Given the description of an element on the screen output the (x, y) to click on. 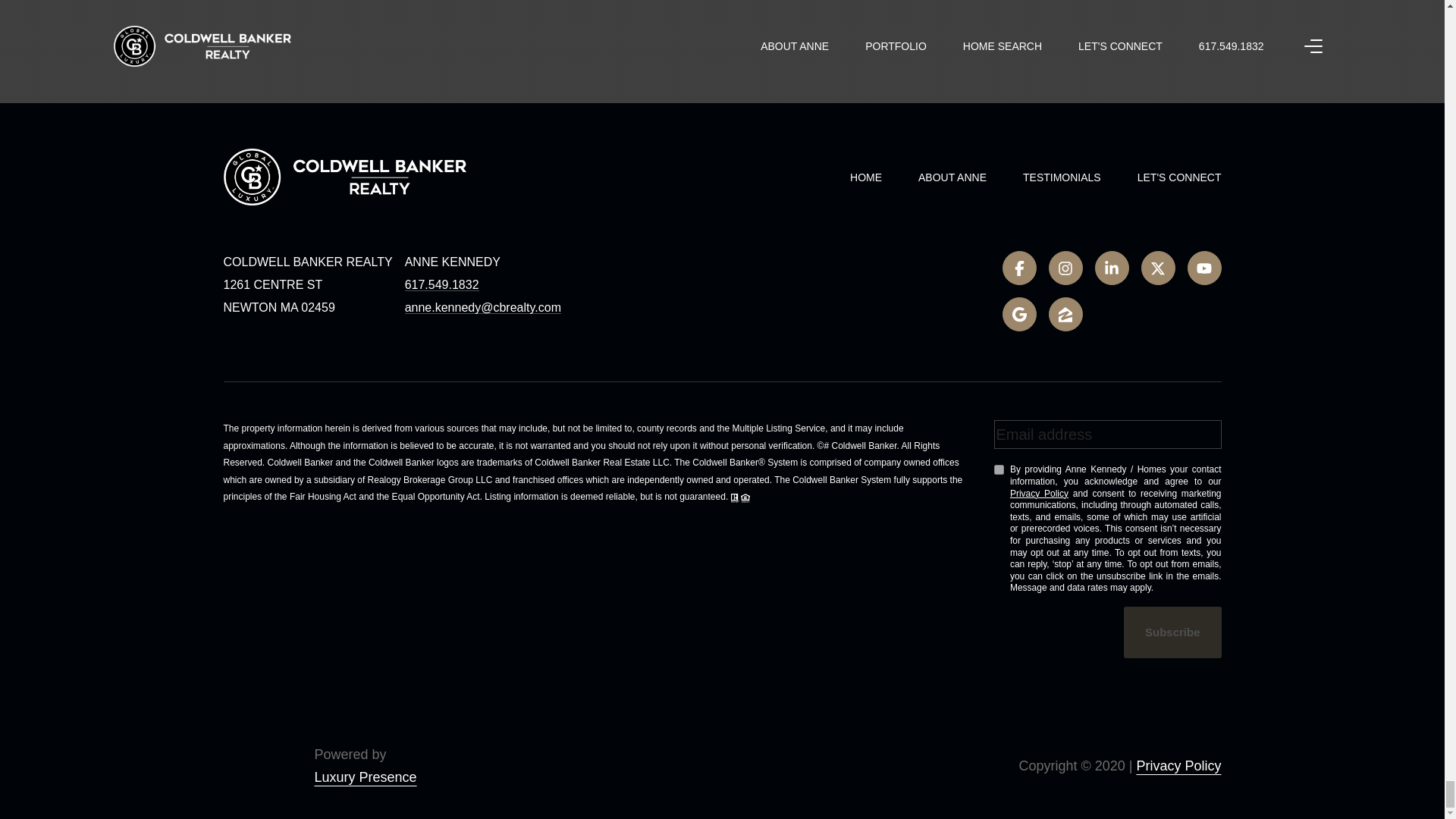
on (997, 470)
